Given the description of an element on the screen output the (x, y) to click on. 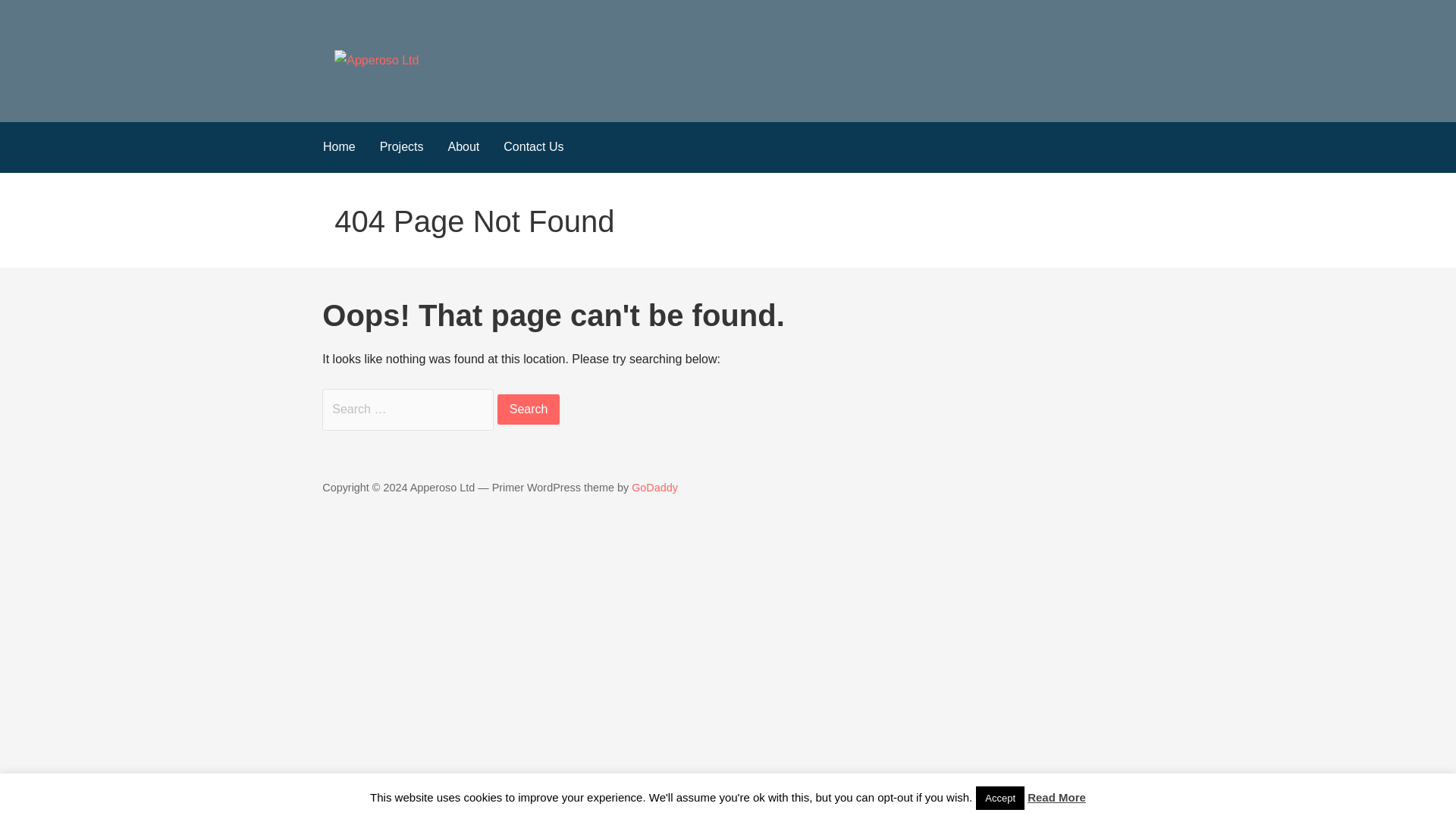
GoDaddy (654, 487)
Contact Us (533, 147)
Projects (401, 147)
Search (528, 409)
Search (528, 409)
Search (528, 409)
Apperoso Ltd (408, 90)
About (463, 147)
Home (339, 147)
